Given the description of an element on the screen output the (x, y) to click on. 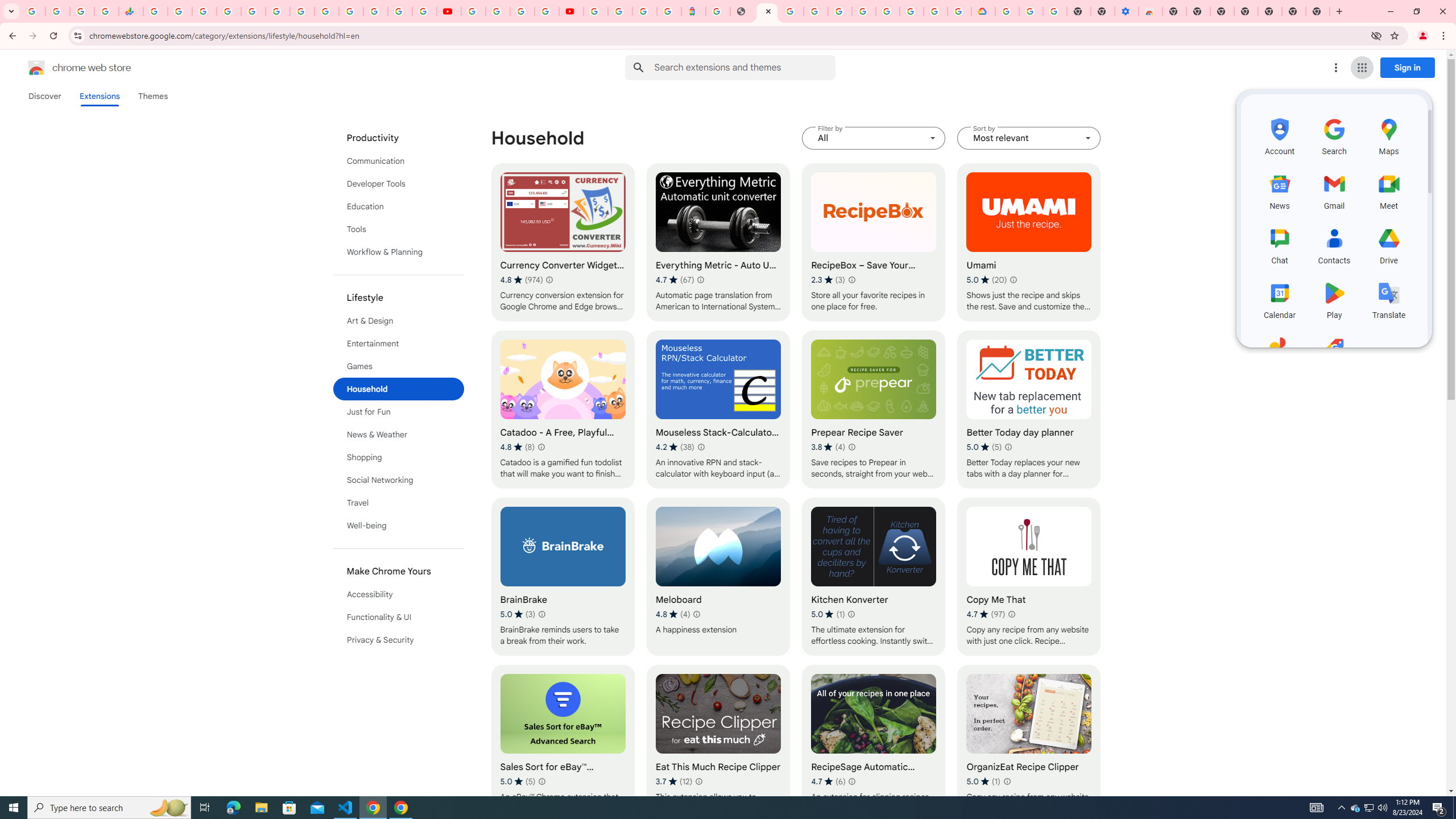
Chrome Web Store logo (36, 67)
More options menu (1335, 67)
